Given the description of an element on the screen output the (x, y) to click on. 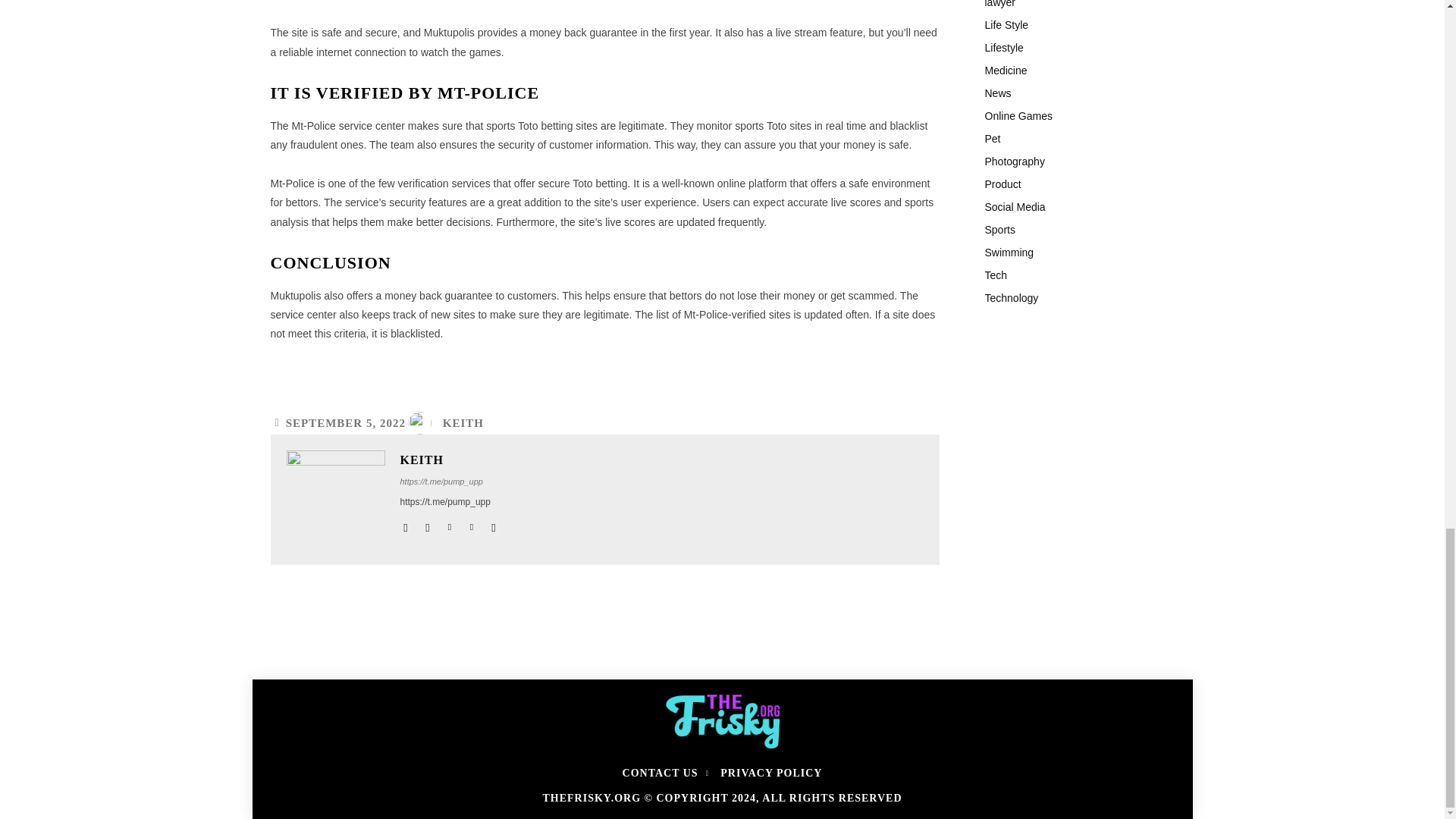
pinterest (471, 523)
KEITH (449, 460)
keith (335, 499)
KEITH (462, 423)
linkedin (449, 523)
keith (424, 422)
youtube (493, 523)
flickr (427, 523)
behance (406, 523)
